Given the description of an element on the screen output the (x, y) to click on. 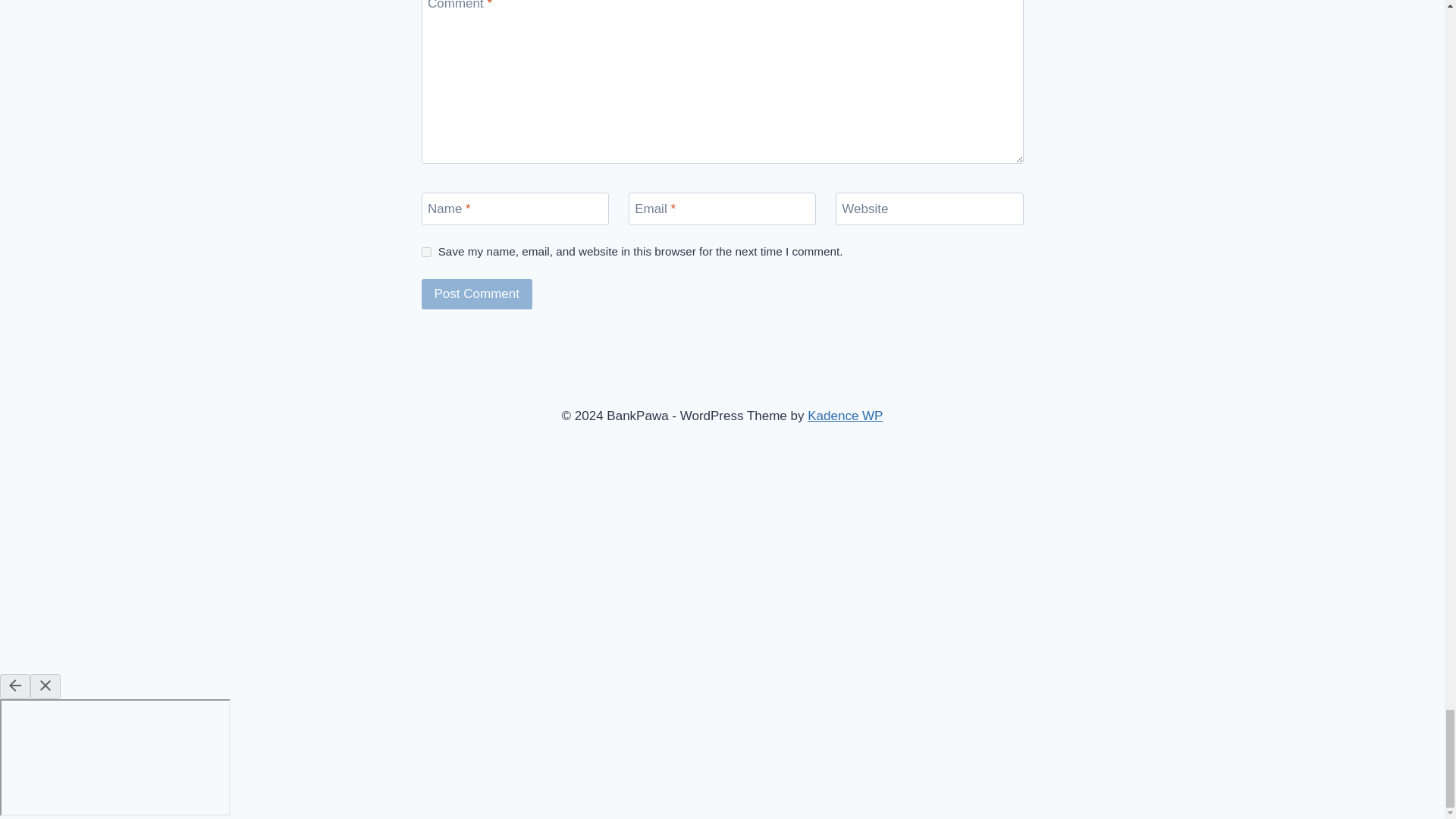
yes (426, 252)
Post Comment (477, 294)
